Given the description of an element on the screen output the (x, y) to click on. 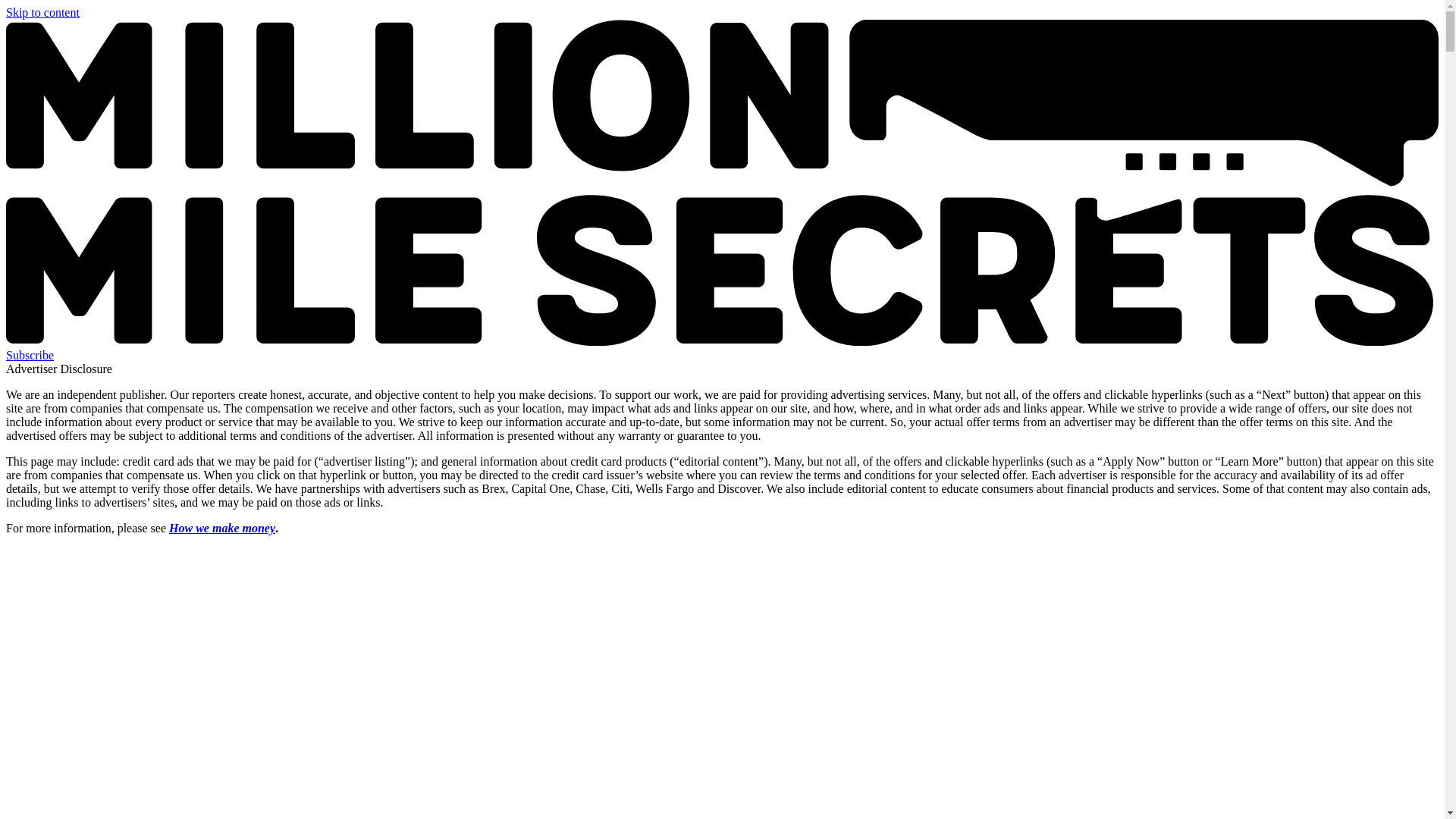
Skip to content (42, 11)
Subscribe (29, 354)
How we make money (221, 527)
